Given the description of an element on the screen output the (x, y) to click on. 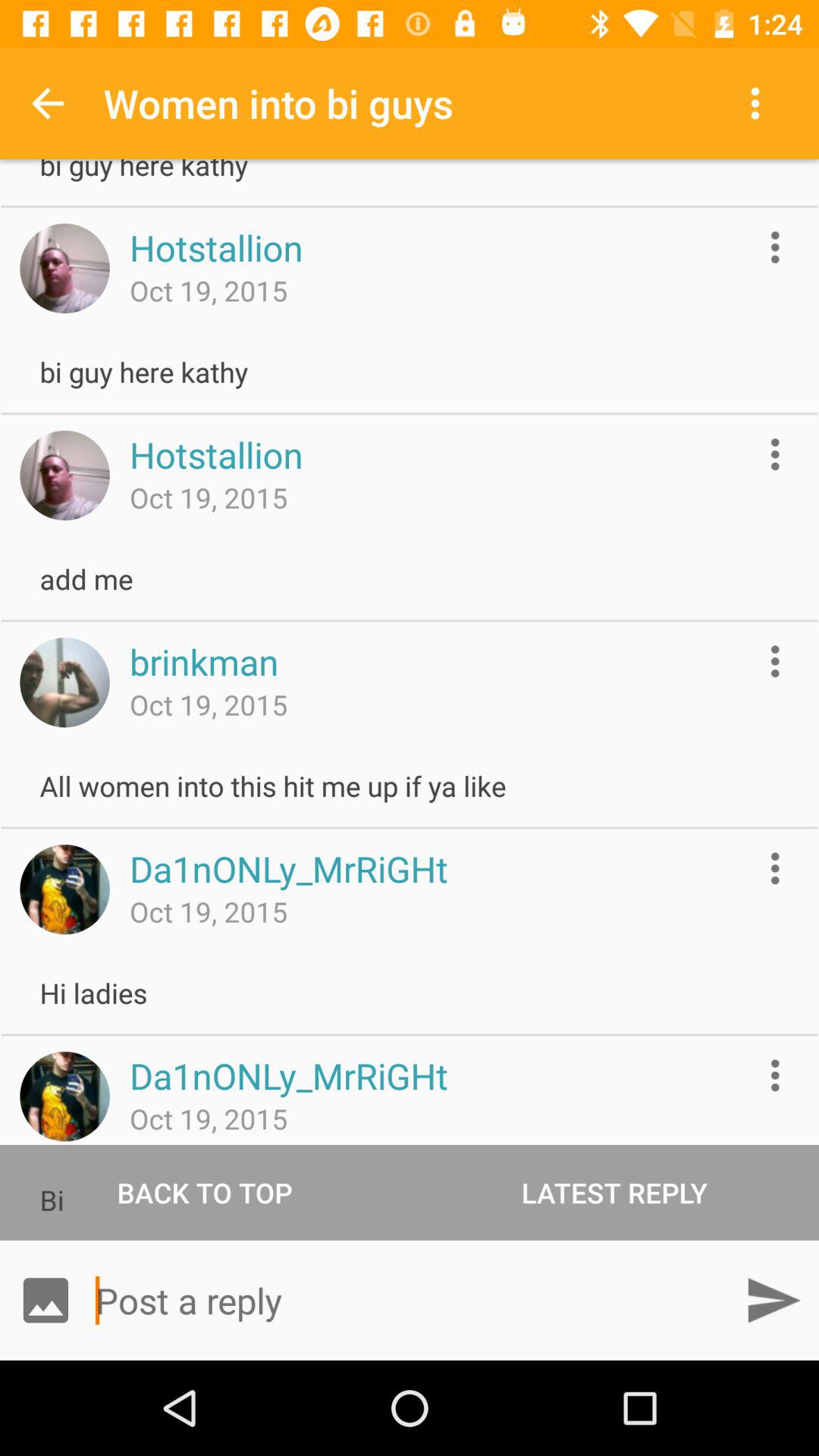
click to see image (64, 1096)
